Given the description of an element on the screen output the (x, y) to click on. 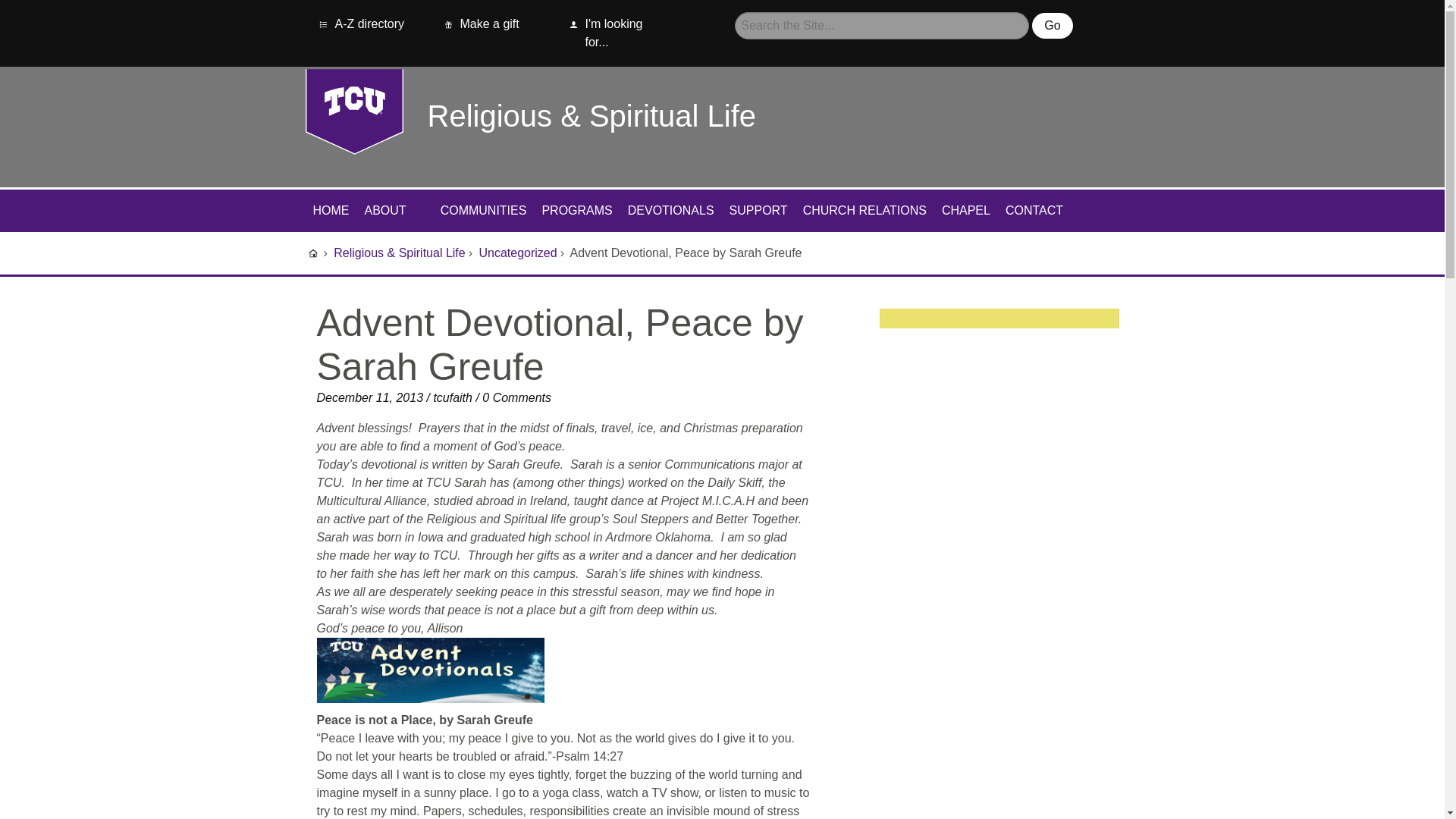
Go (1051, 25)
DEVOTIONALS (671, 210)
Texas Christian University (312, 252)
Make a gift (480, 24)
PROGRAMS (577, 210)
Go (1051, 25)
CHURCH RELATIONS (864, 210)
A-Z directory (360, 24)
SUPPORT (758, 210)
Texas Christian University (353, 111)
